Given the description of an element on the screen output the (x, y) to click on. 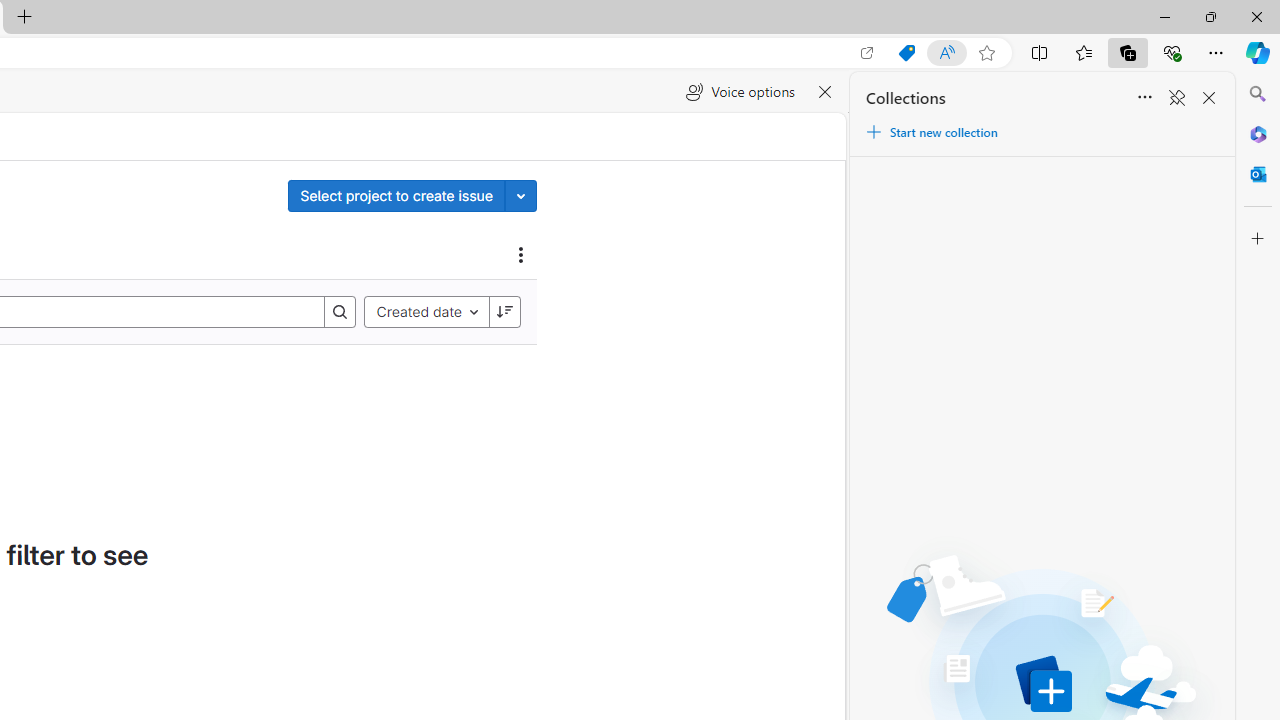
Select project to create issue (396, 195)
Created date (426, 311)
Close read aloud (825, 92)
Unpin Collections (1176, 98)
Actions (521, 254)
Voice options (740, 92)
